Given the description of an element on the screen output the (x, y) to click on. 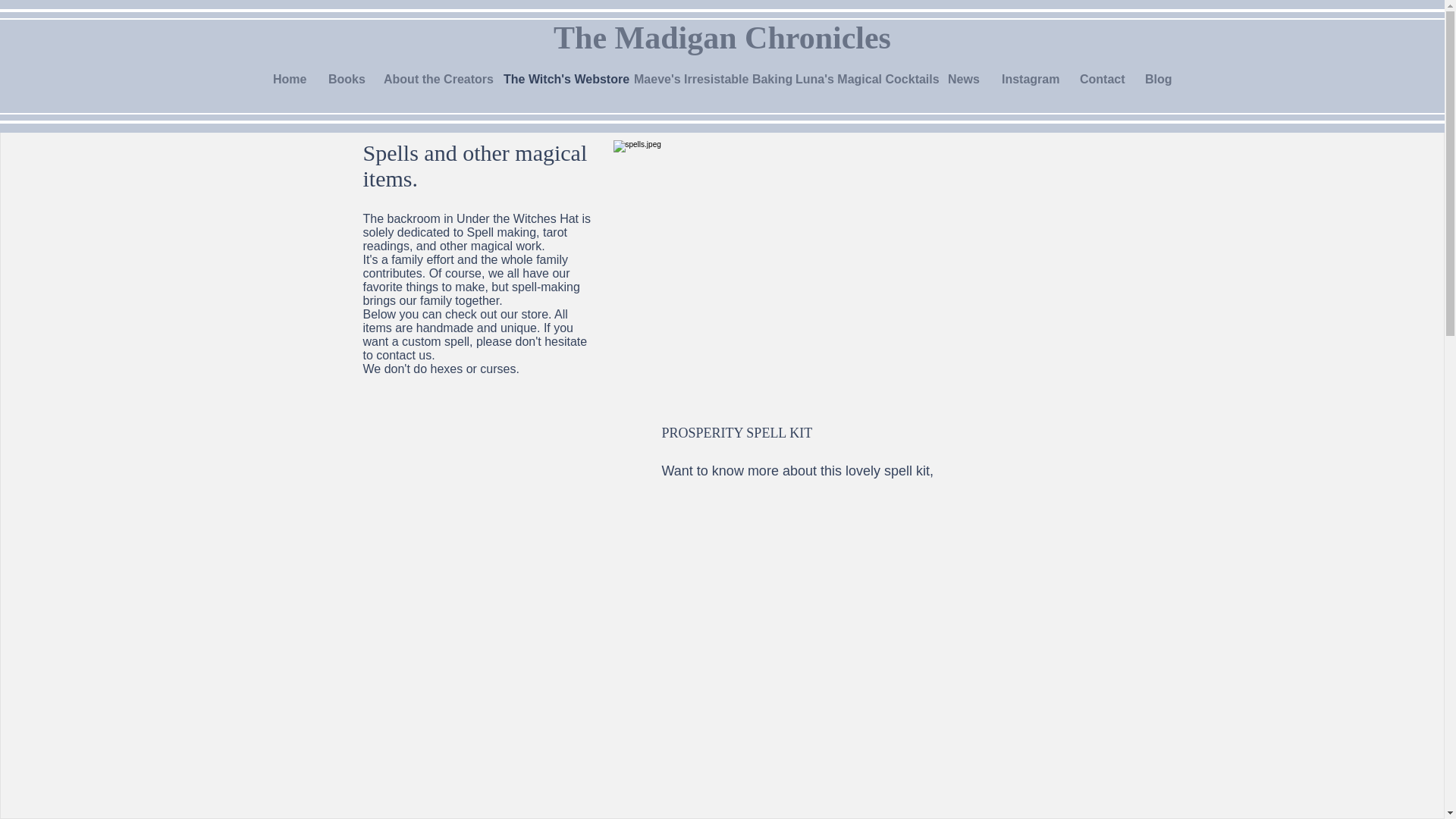
Contact (1101, 78)
About the Creators (432, 78)
The Witch's Webstore (557, 78)
Luna's Magical Cocktails (860, 78)
Blog (1158, 78)
The Madigan Chronicles (722, 37)
Books (344, 78)
News (963, 78)
Home (289, 78)
Instagram (1029, 78)
Maeve's Irresistable Baking (703, 78)
